Given the description of an element on the screen output the (x, y) to click on. 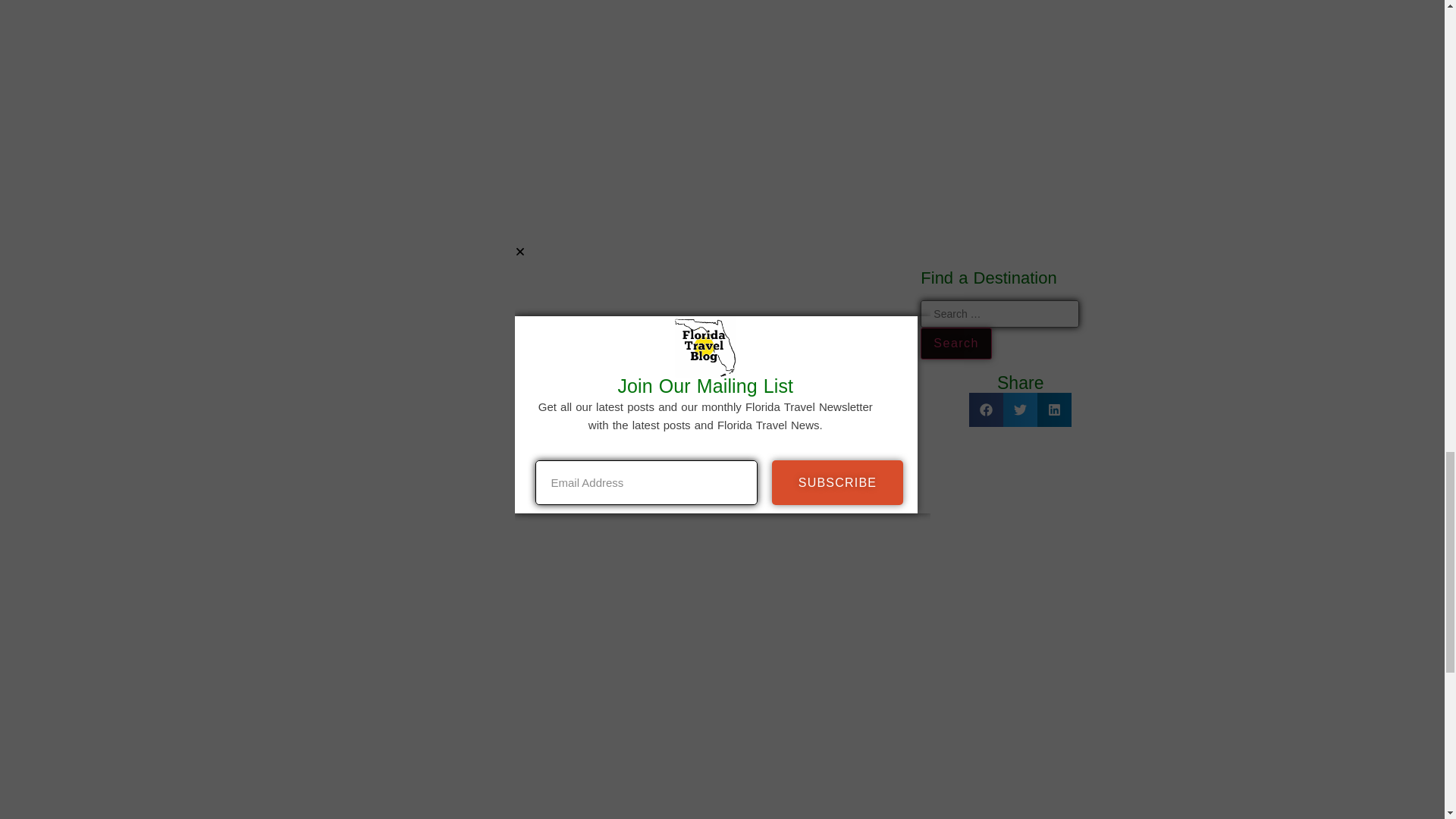
Search (955, 343)
Search (955, 343)
